Given the description of an element on the screen output the (x, y) to click on. 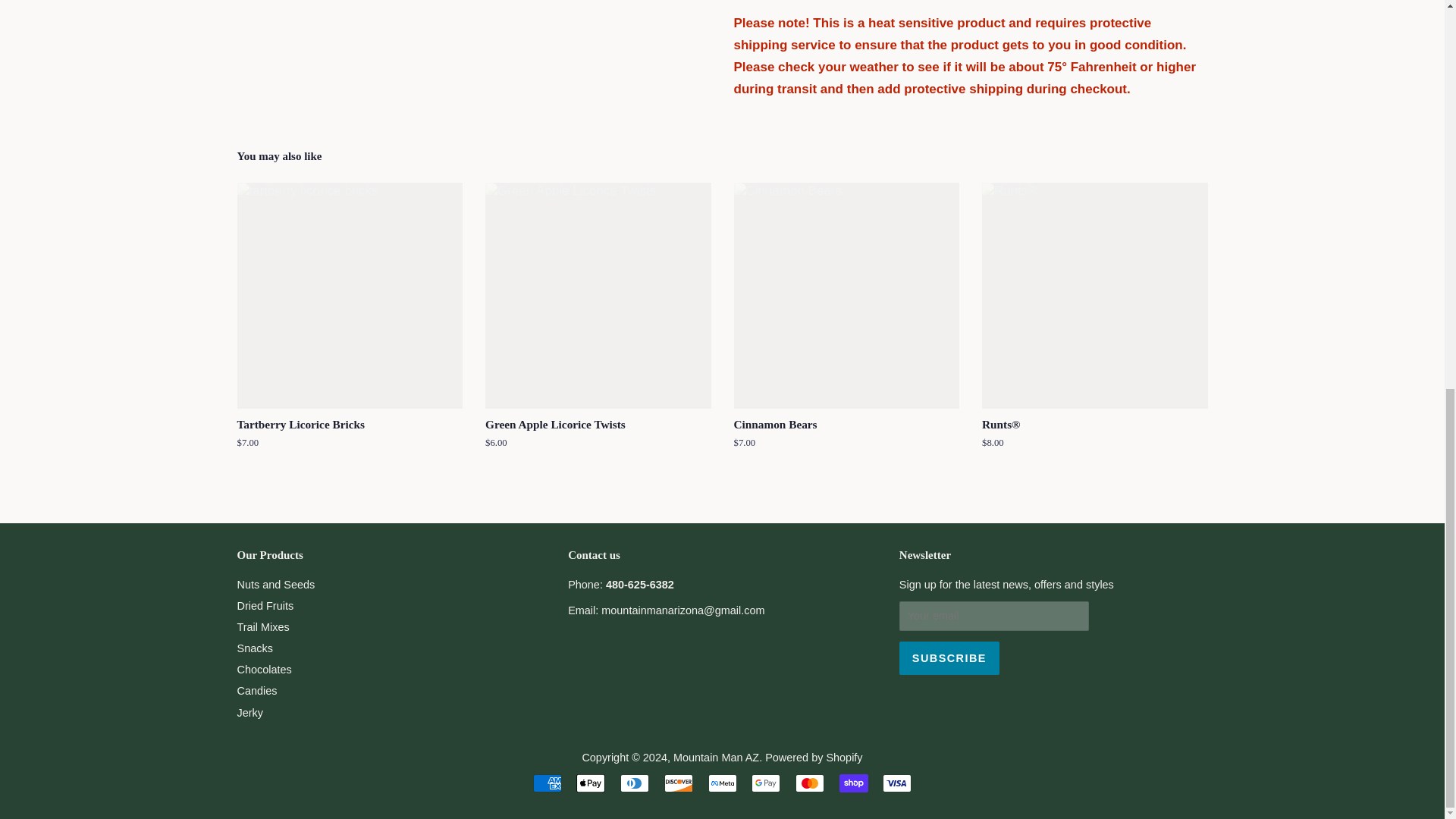
Diners Club (634, 782)
Mastercard (809, 782)
Discover (678, 782)
Shop Pay (853, 782)
Subscribe (948, 657)
American Express (547, 782)
Apple Pay (590, 782)
Google Pay (765, 782)
Visa (896, 782)
Meta Pay (721, 782)
